Given the description of an element on the screen output the (x, y) to click on. 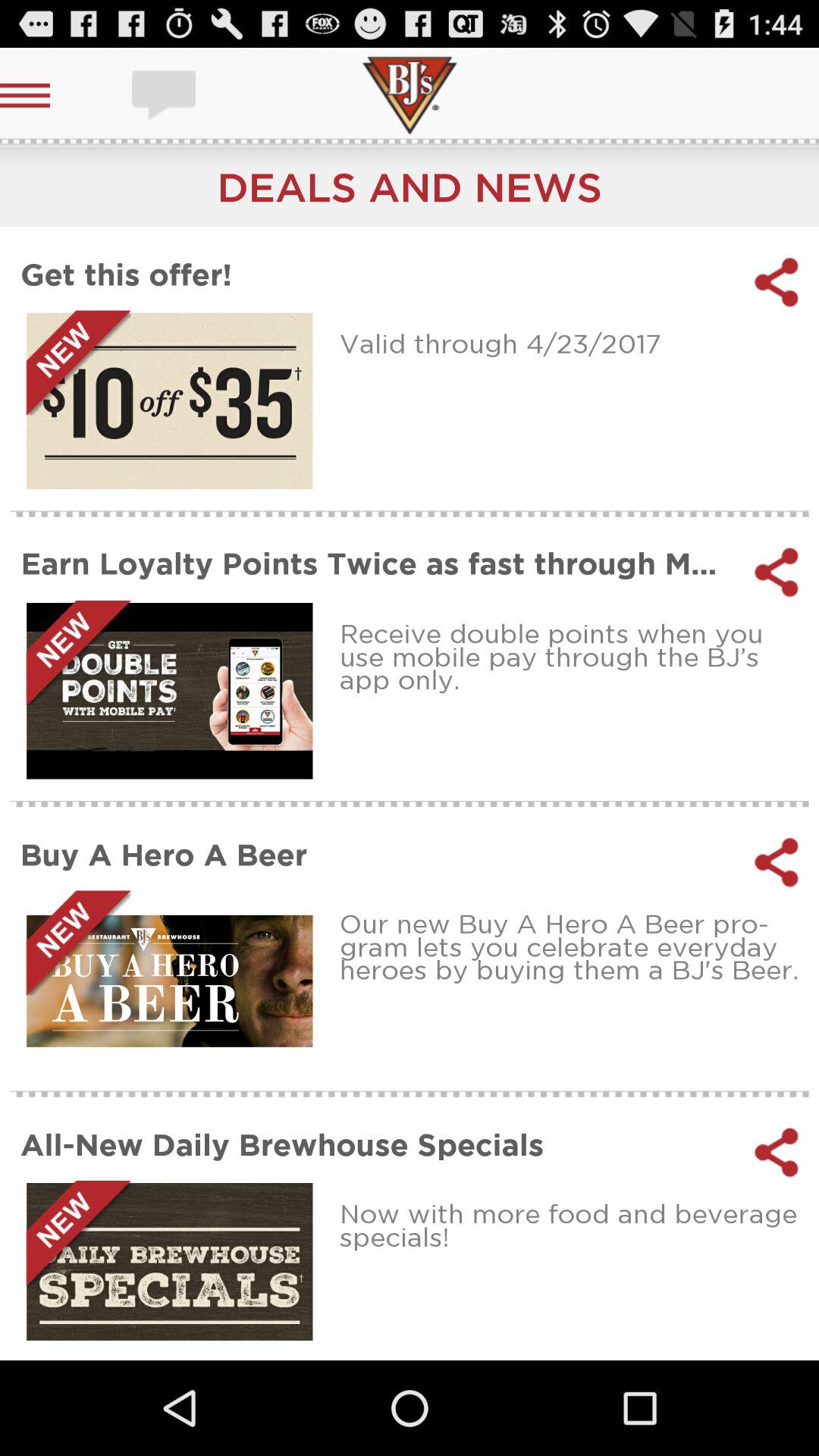
select this offer (169, 400)
